Given the description of an element on the screen output the (x, y) to click on. 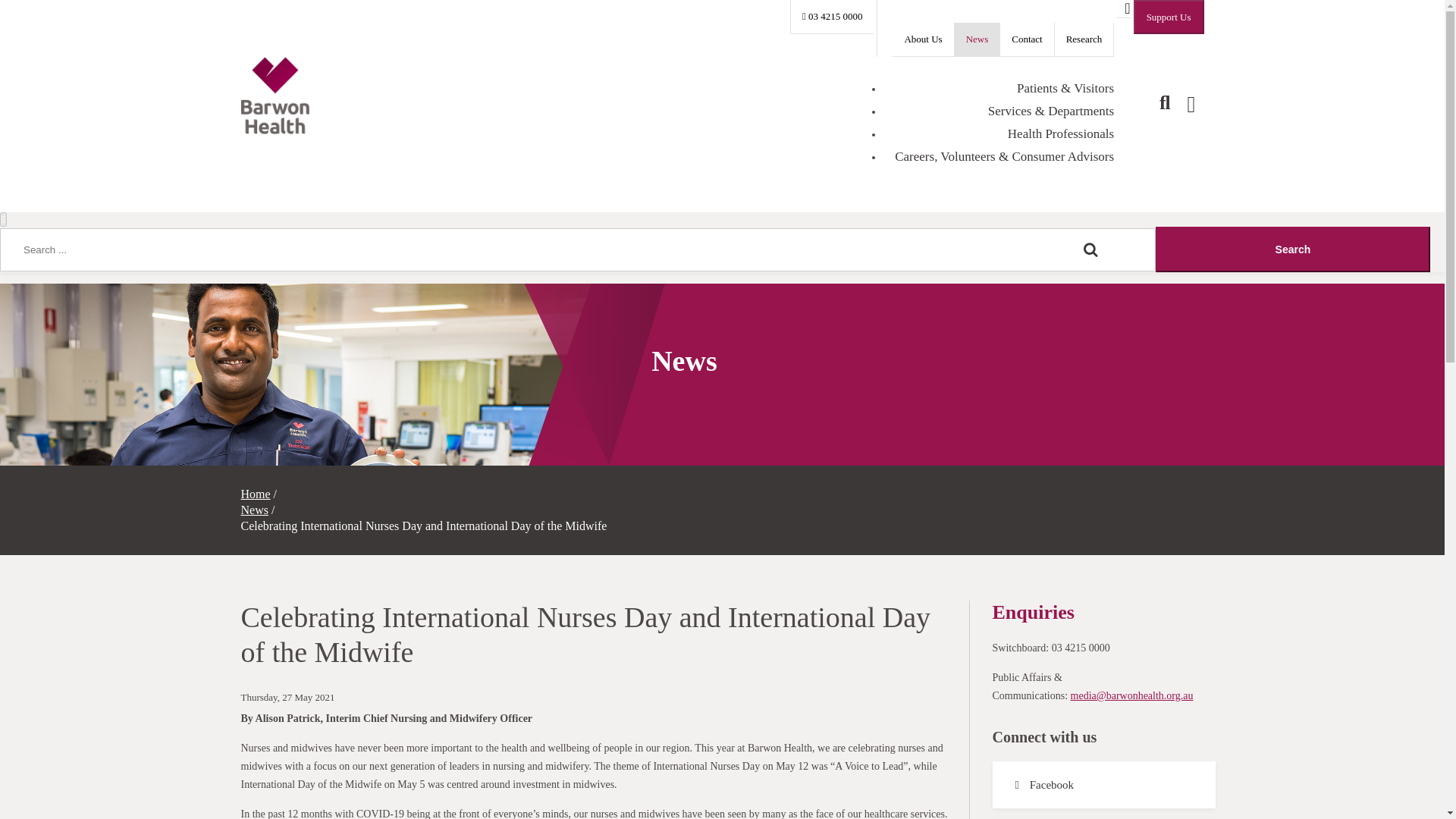
Go (1292, 248)
Facebook (1102, 784)
